Given the description of an element on the screen output the (x, y) to click on. 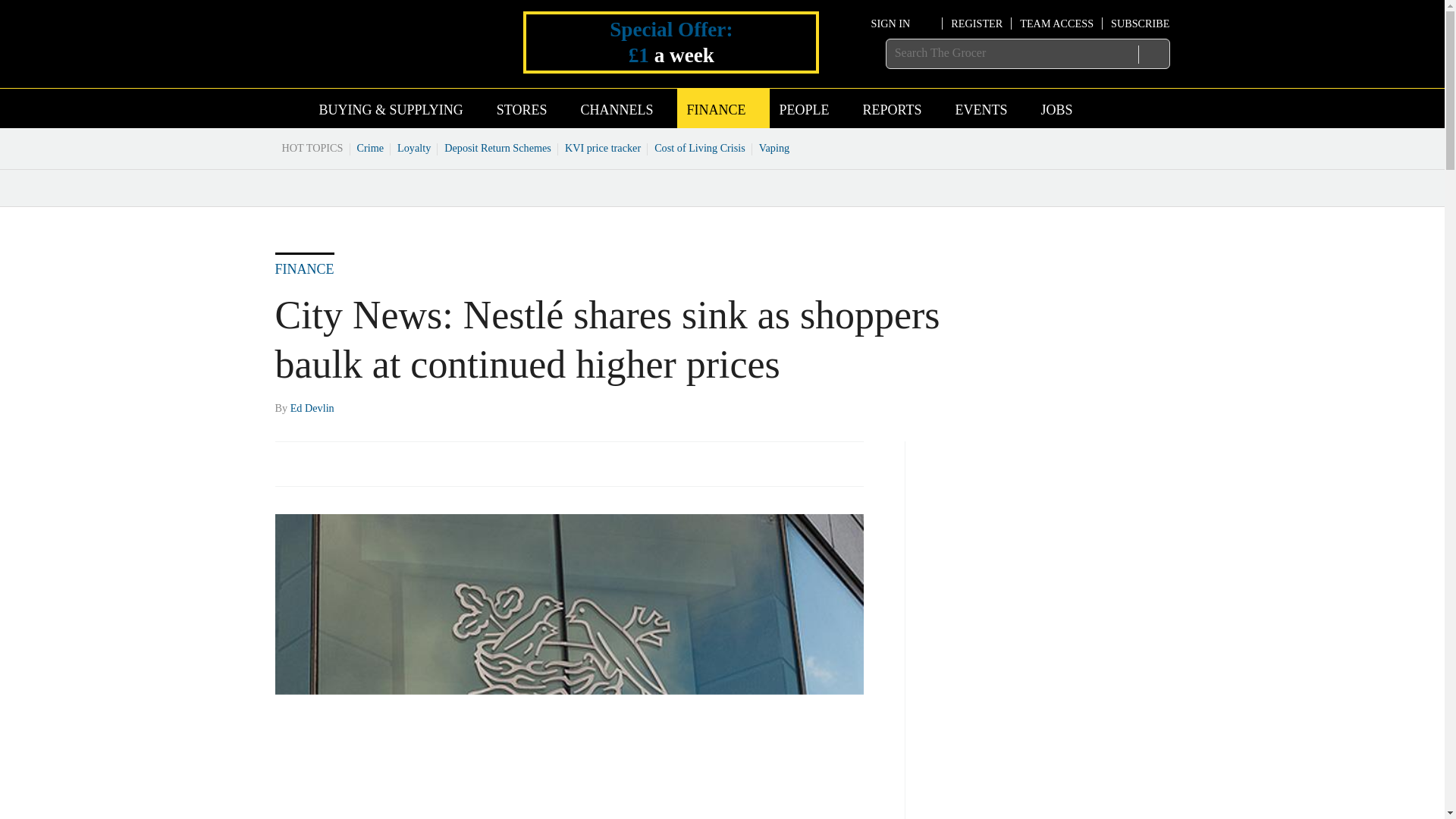
Email this article (386, 462)
Site name (363, 65)
Share this on Facebook (288, 462)
REGISTER (976, 23)
Deposit Return Schemes (497, 147)
SEARCH (1153, 53)
TEAM ACCESS (1056, 23)
Crime (370, 147)
SUBSCRIBE (1139, 23)
No comments (840, 472)
